Given the description of an element on the screen output the (x, y) to click on. 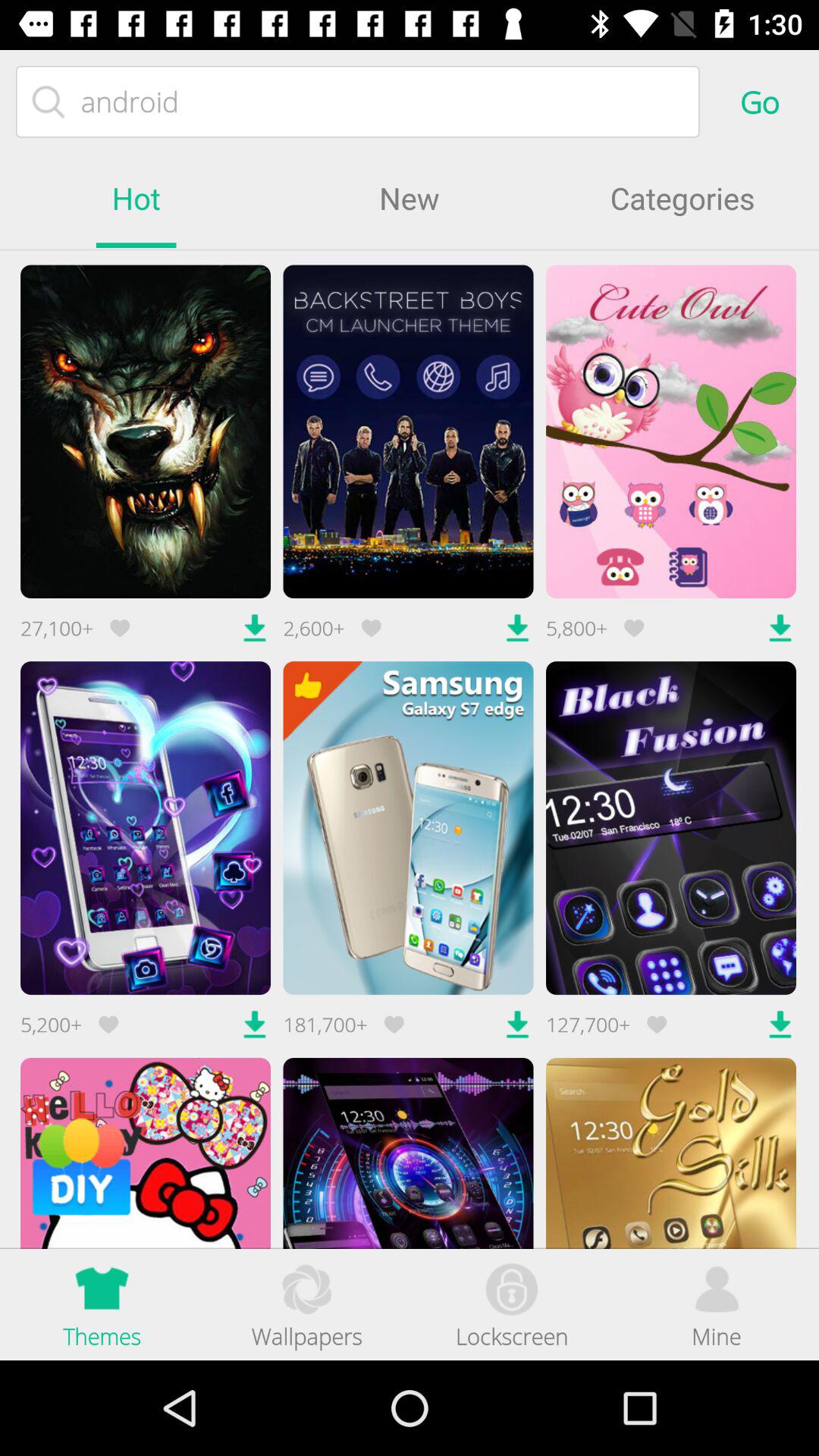
click on the go option (759, 101)
click on the search icon (48, 101)
